Given the description of an element on the screen output the (x, y) to click on. 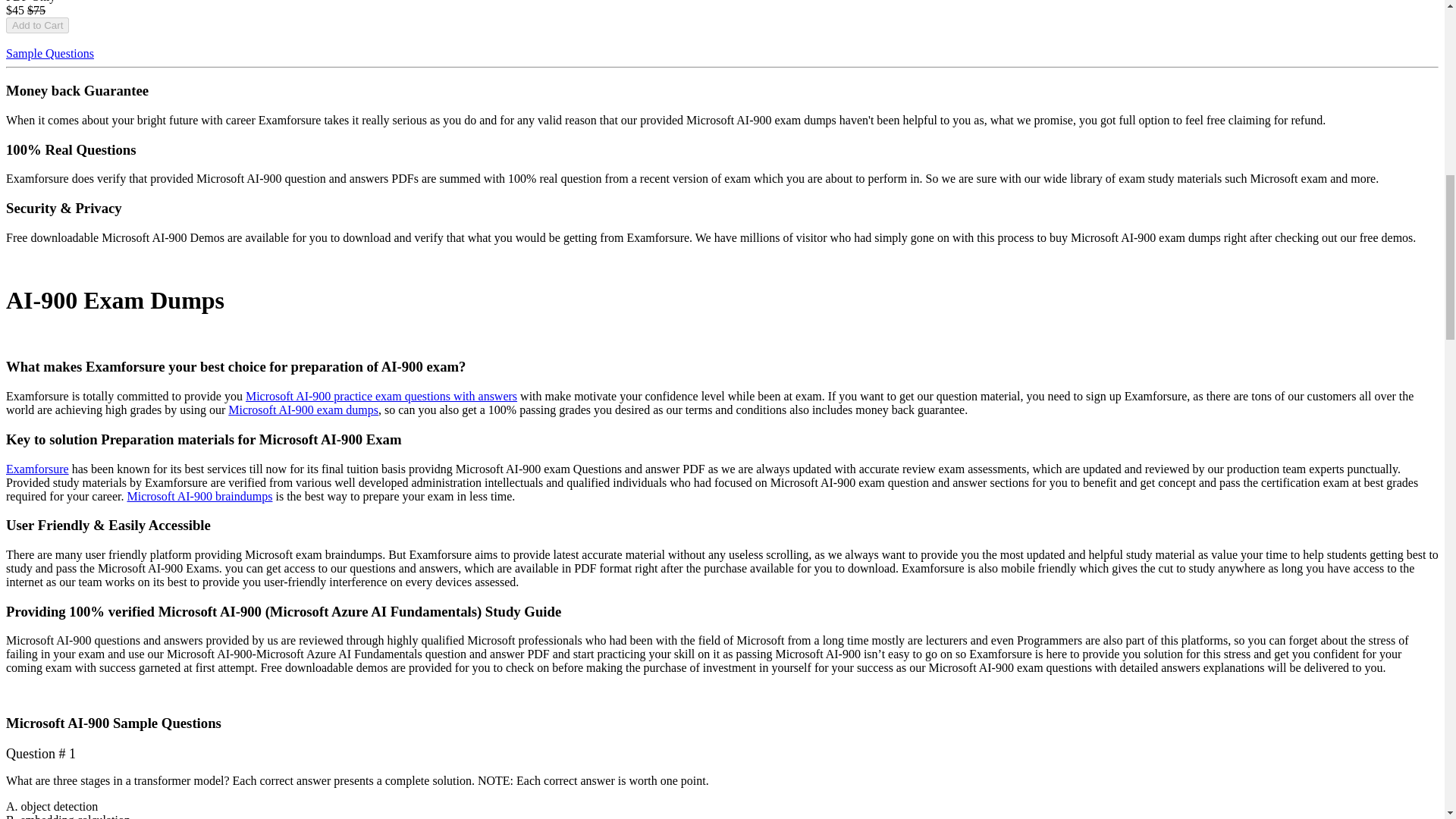
Microsoft AI-900 exam dumps (303, 409)
Microsoft AI-900 practice exam questions with answers (381, 395)
Examforsure (36, 468)
Sample Questions (49, 52)
Microsoft AI-900 braindumps (199, 495)
Add to Cart (36, 25)
